Given the description of an element on the screen output the (x, y) to click on. 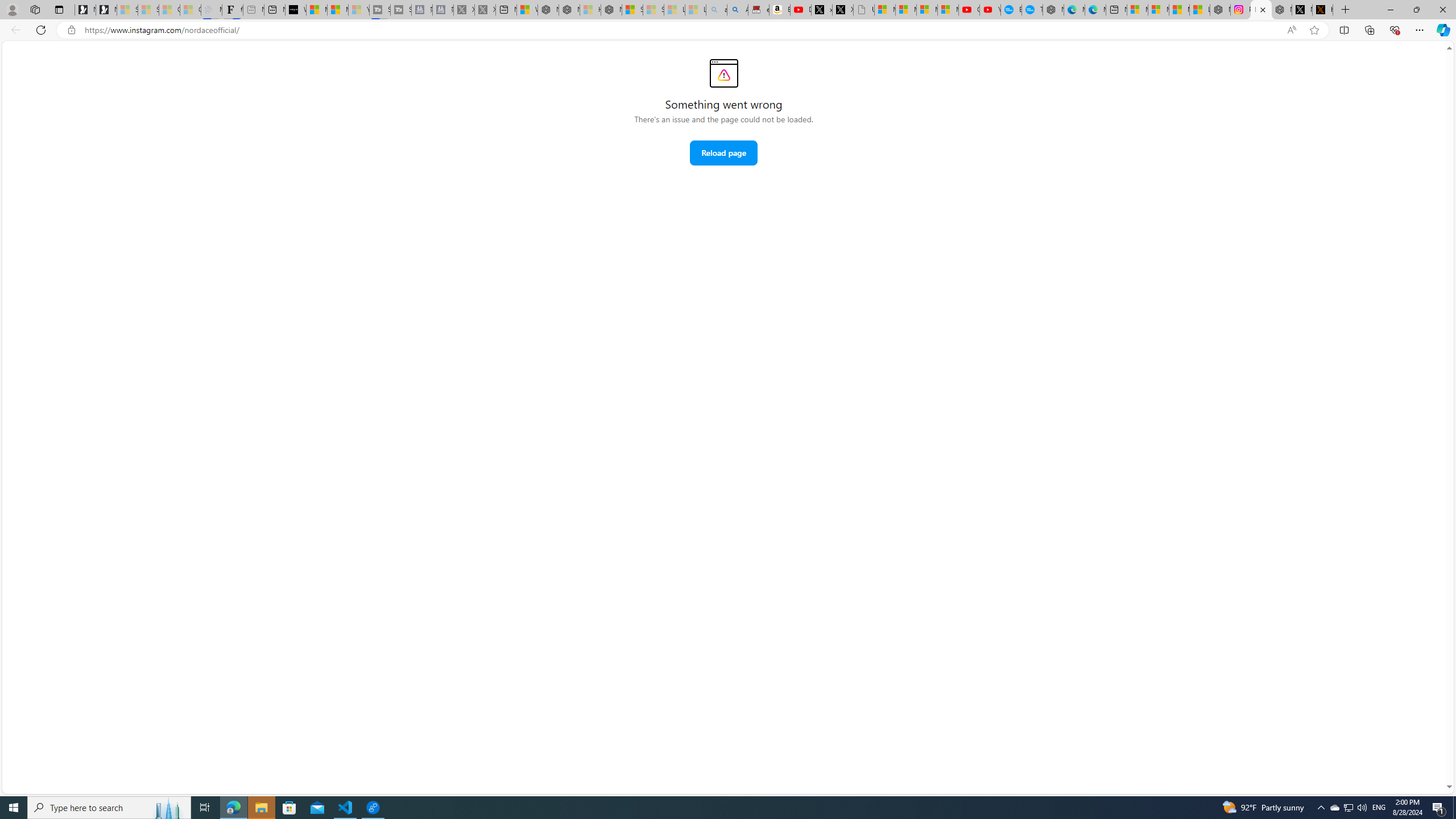
YouTube Kids - An App Created for Kids to Explore Content (990, 9)
help.x.com | 524: A timeout occurred (1322, 9)
amazon - Search - Sleeping (716, 9)
